Given the description of an element on the screen output the (x, y) to click on. 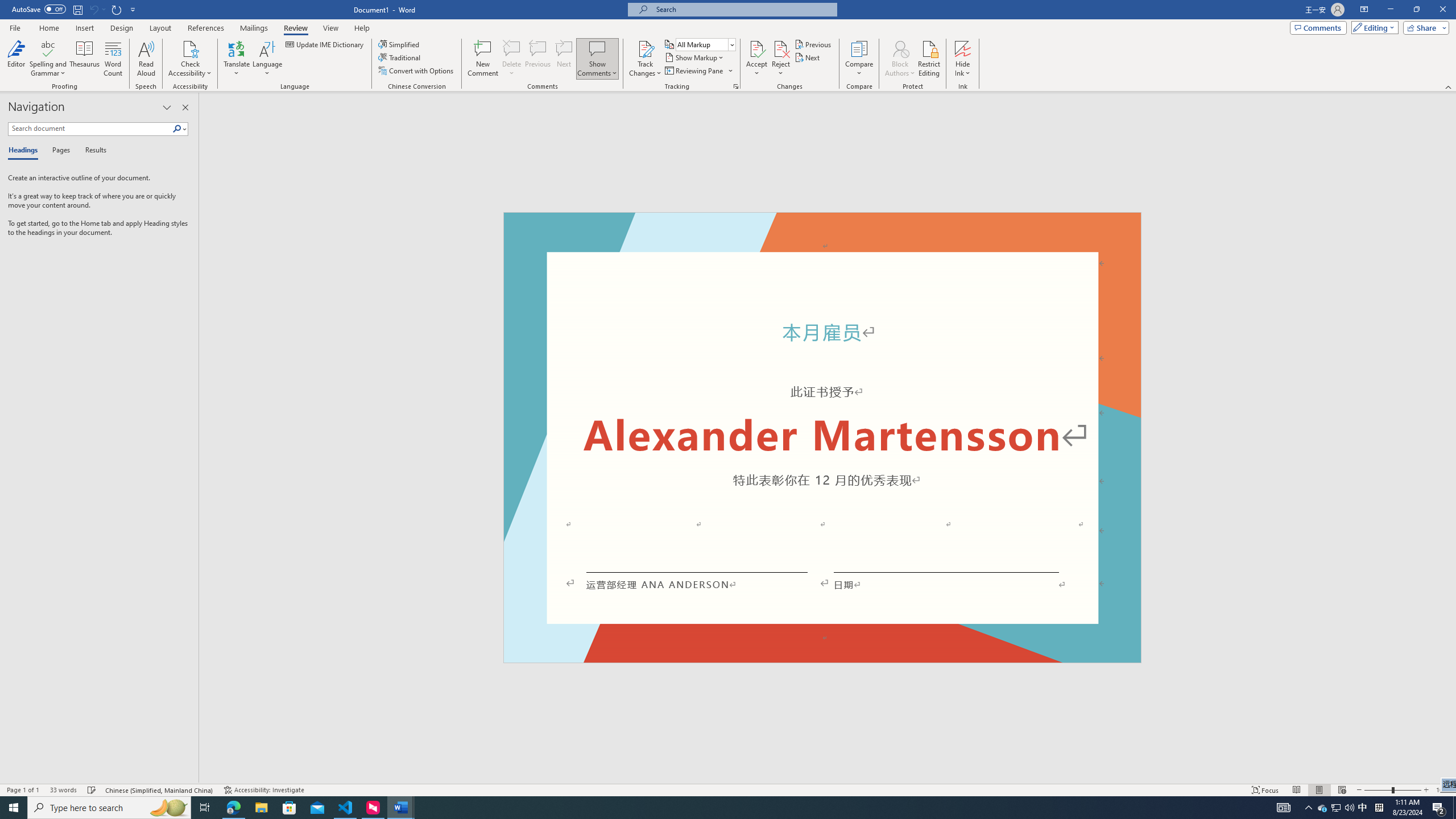
Show Comments (597, 48)
Thesaurus... (84, 58)
Repeat Doc Close (117, 9)
Spelling and Grammar (48, 58)
Check Accessibility (189, 58)
Can't Undo (96, 9)
Decorative (822, 437)
